Given the description of an element on the screen output the (x, y) to click on. 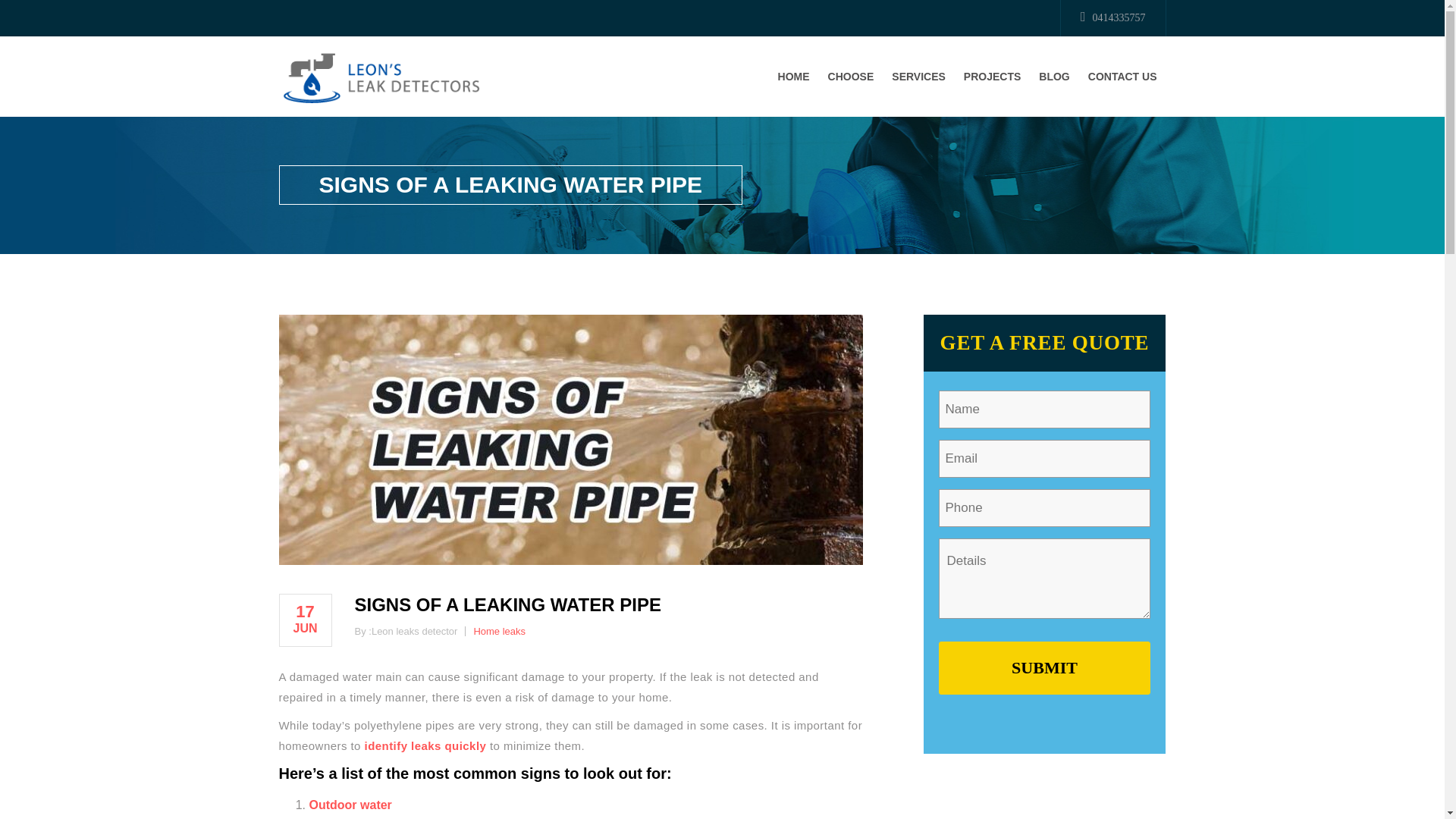
PROJECTS (992, 76)
Home leaks (499, 631)
SUBMIT (1045, 667)
identify leaks quickly (425, 745)
SERVICES (918, 76)
CHOOSE (850, 76)
BLOG (1053, 76)
Leak detection Projects (992, 76)
Best Water Leak Detection (381, 77)
Outdoor water (349, 804)
SERVICES (918, 76)
CONTACT US (1122, 76)
PROJECTS (992, 76)
BLOG (1053, 76)
identify leaks quickly (425, 745)
